Given the description of an element on the screen output the (x, y) to click on. 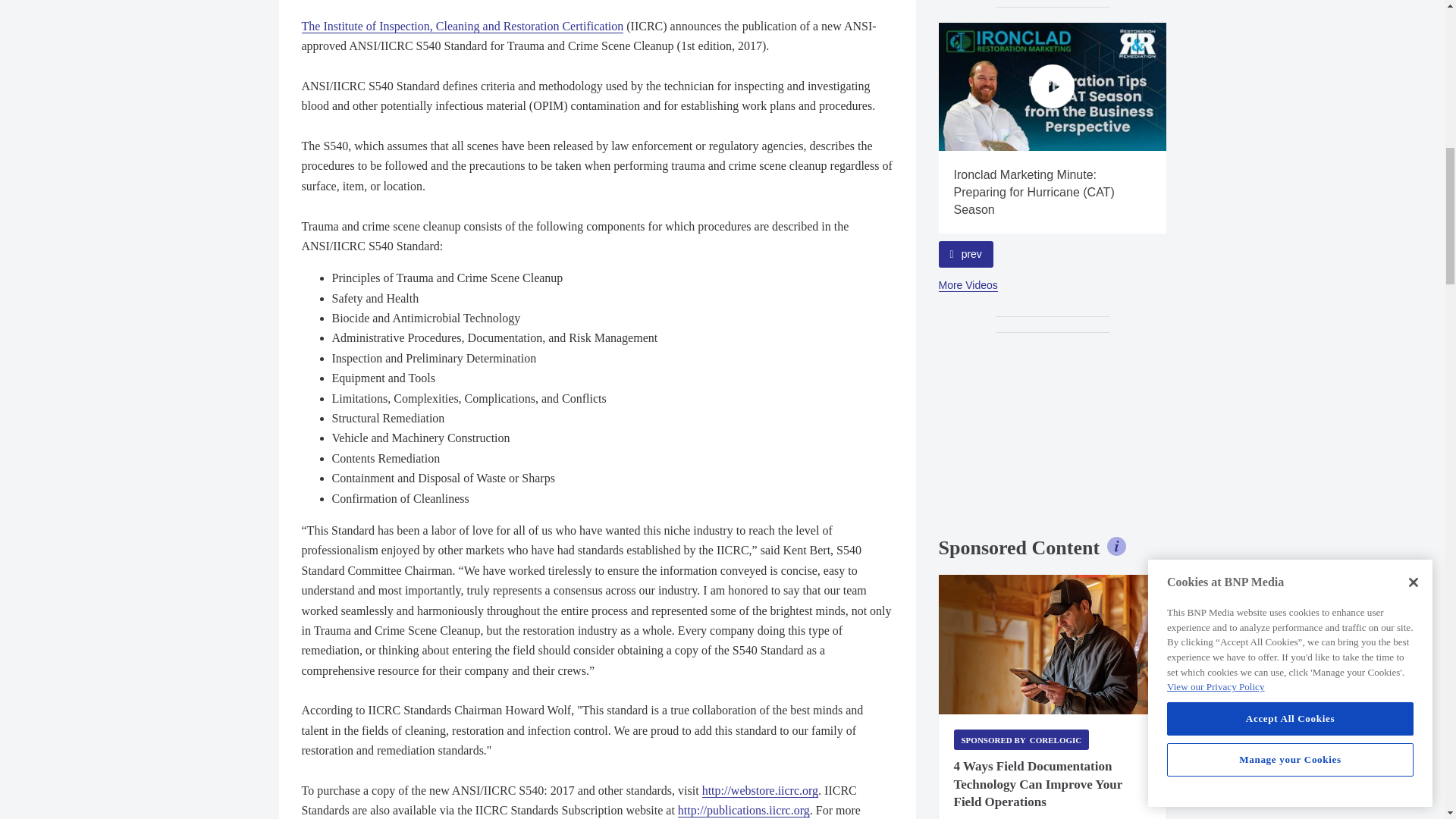
Mold and the Need for Attic Restoration (825, 86)
restoration technician using field documentation software (1052, 644)
Sponsored by CoreLogic (1021, 739)
